Given the description of an element on the screen output the (x, y) to click on. 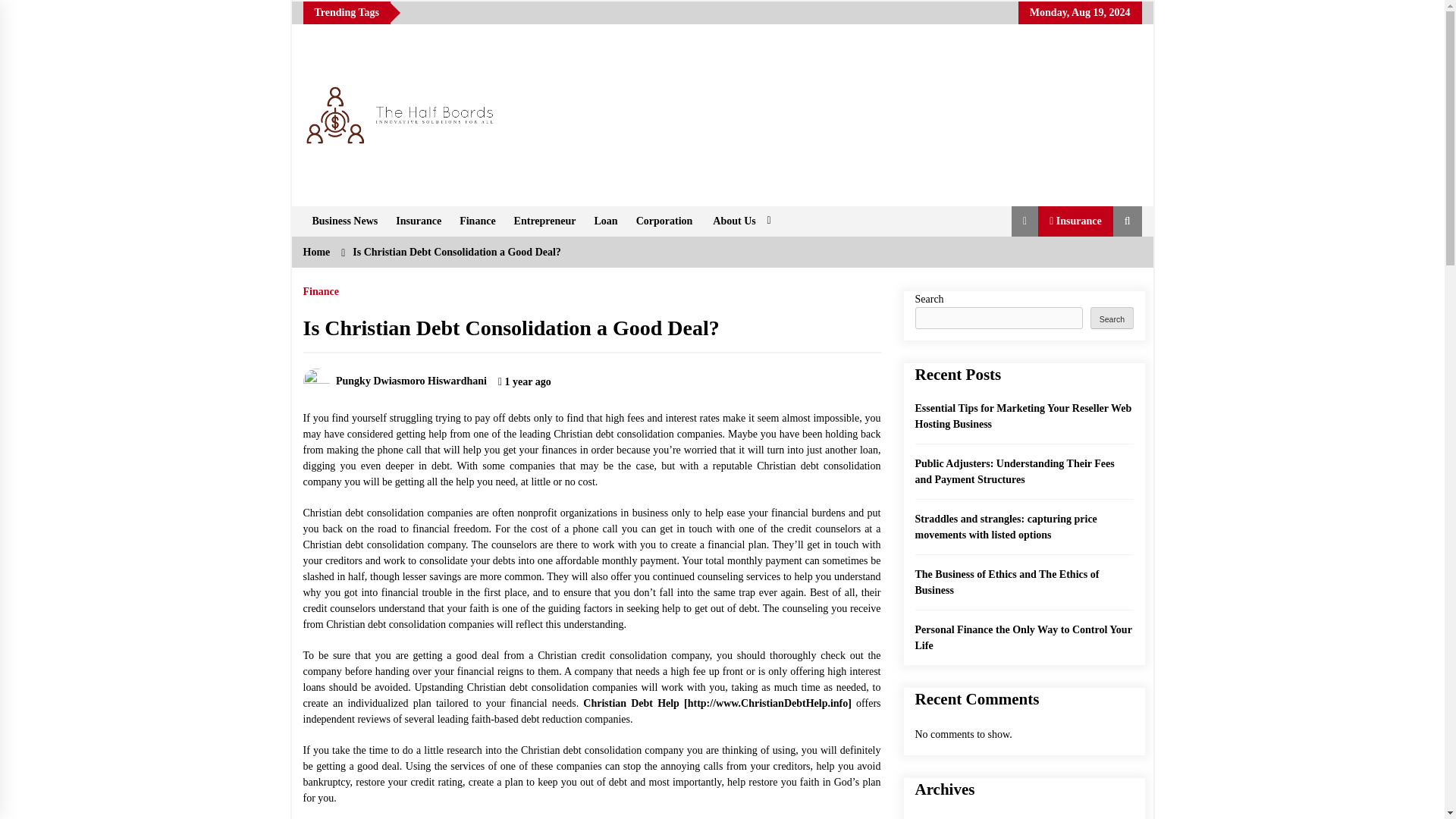
Insurance (418, 221)
Business News (344, 221)
Loan (606, 221)
Finance (476, 221)
Corporation (664, 221)
Entrepreneur (545, 221)
About Us (739, 221)
